Given the description of an element on the screen output the (x, y) to click on. 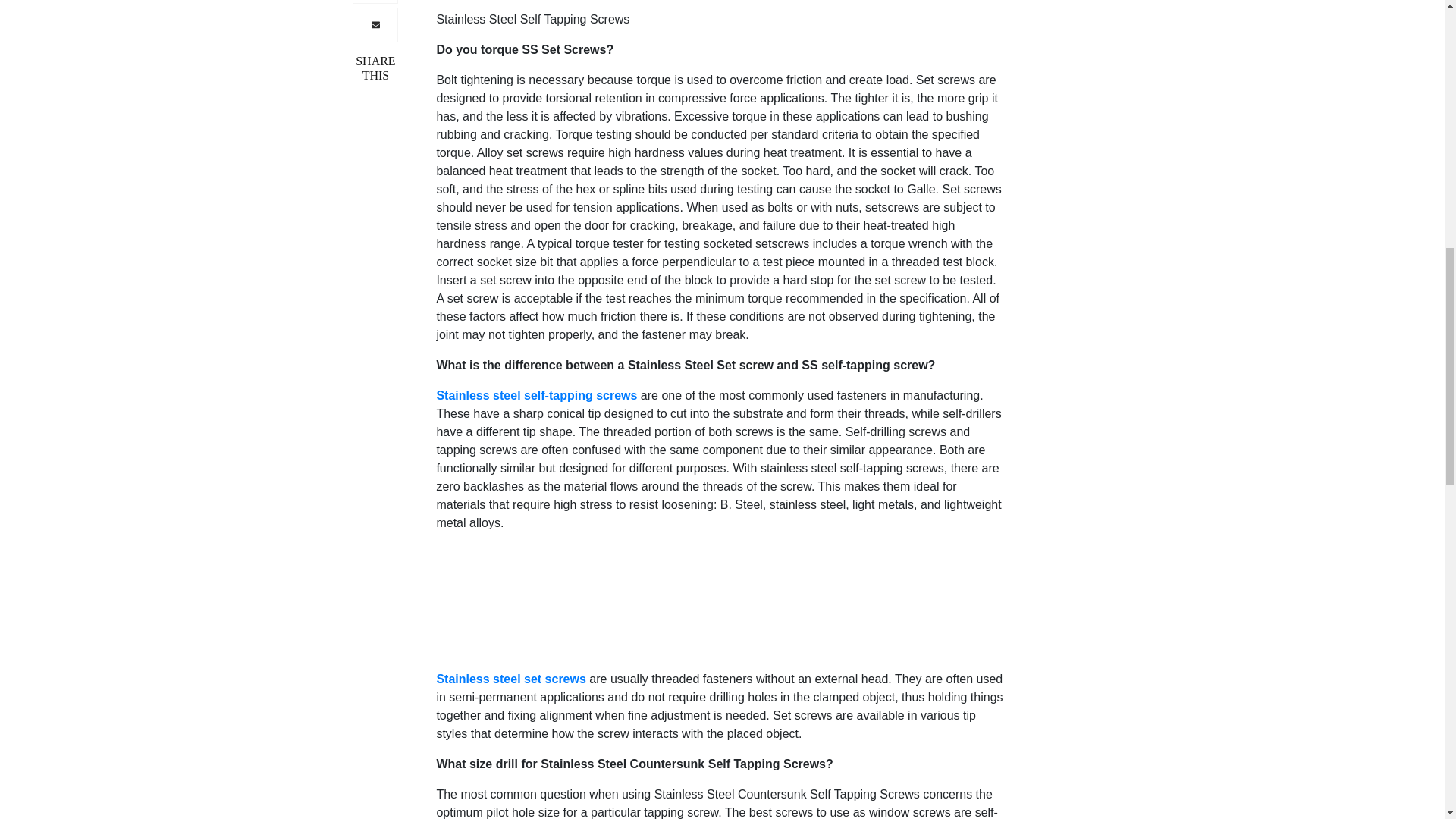
Share via Email (374, 24)
Stainless steel self-tapping screws  (537, 394)
Stainless steel set screws  (512, 677)
Share on LinkedIn (374, 1)
